Given the description of an element on the screen output the (x, y) to click on. 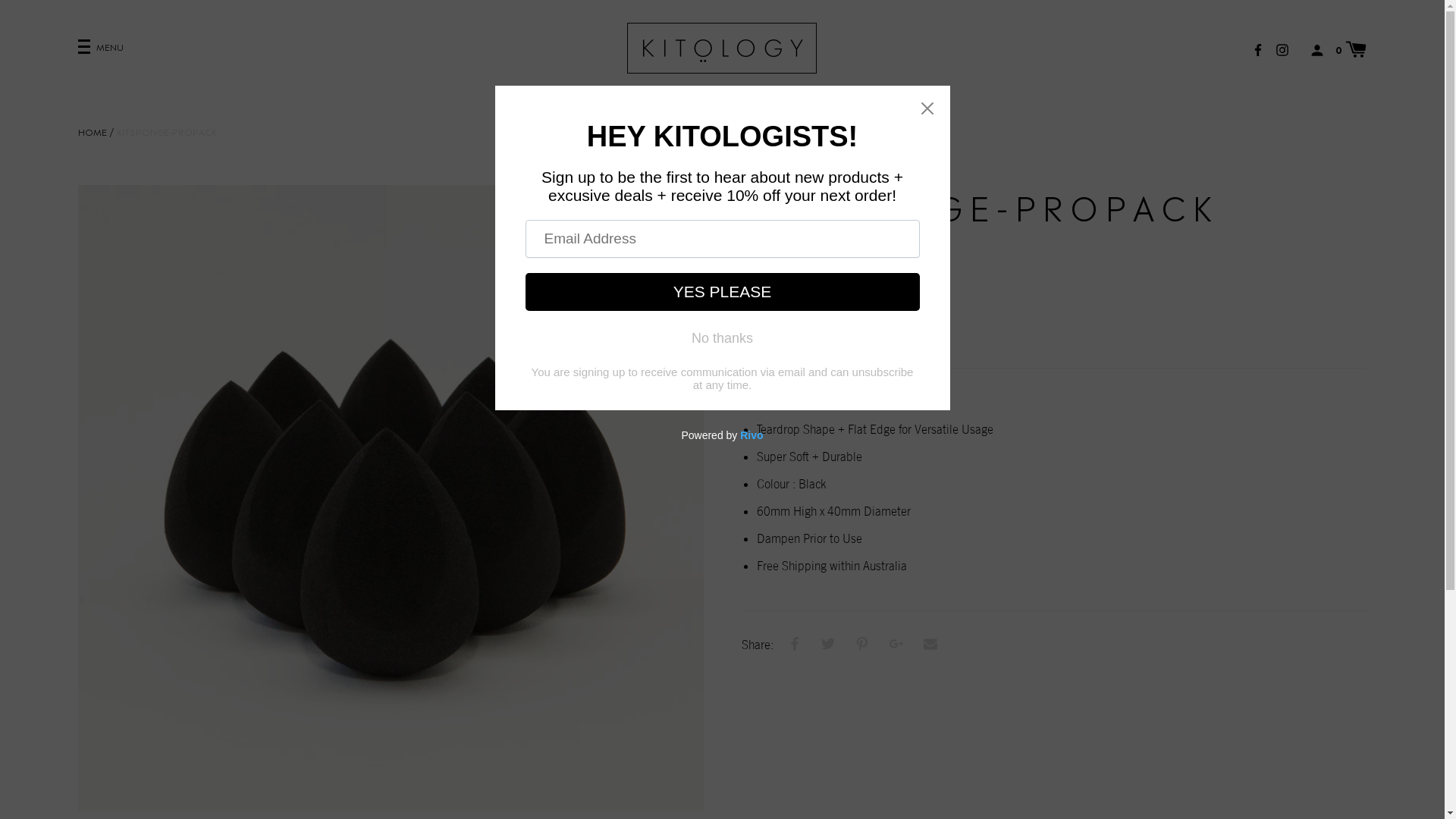
MENU Element type: text (99, 47)
HOME Element type: text (91, 131)
ADD TO CART Element type: text (829, 329)
KITOLOGY on Facebook Element type: hover (1258, 48)
0 Element type: text (1350, 48)
KITOLOGY on Instagram Element type: hover (1282, 48)
